Given the description of an element on the screen output the (x, y) to click on. 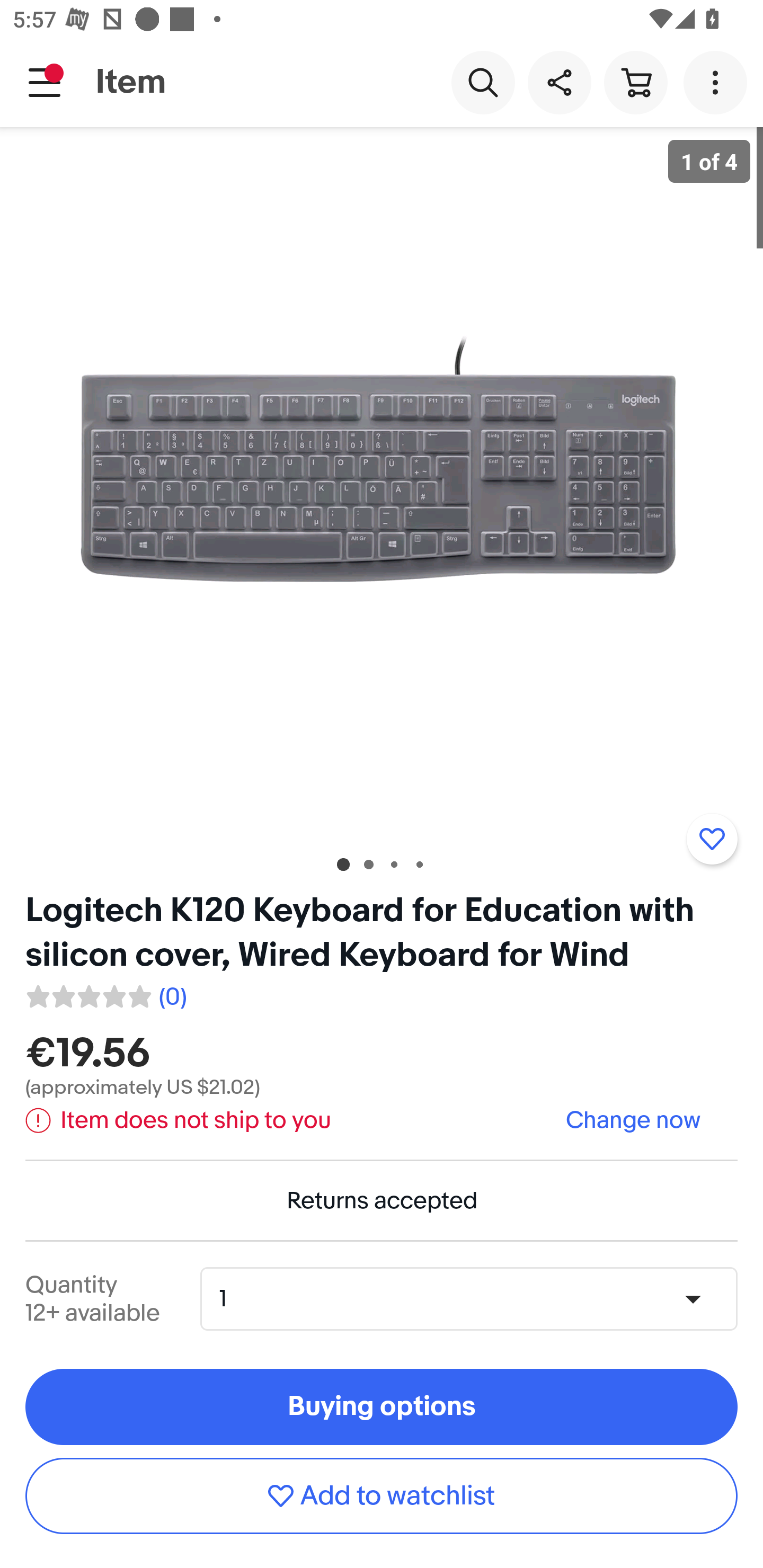
Main navigation, notification is pending, open (44, 82)
Search (482, 81)
Share this item (559, 81)
Cart button shopping cart (635, 81)
More options (718, 81)
Item image 1 of 4 (381, 482)
Add to watchlist (711, 838)
0 reviews. Average rating 0.0 out of five 0.0 (0) (105, 993)
Quantity,1,12+ available 1 (474, 1298)
Buying options (381, 1406)
Add to watchlist (381, 1495)
